Given the description of an element on the screen output the (x, y) to click on. 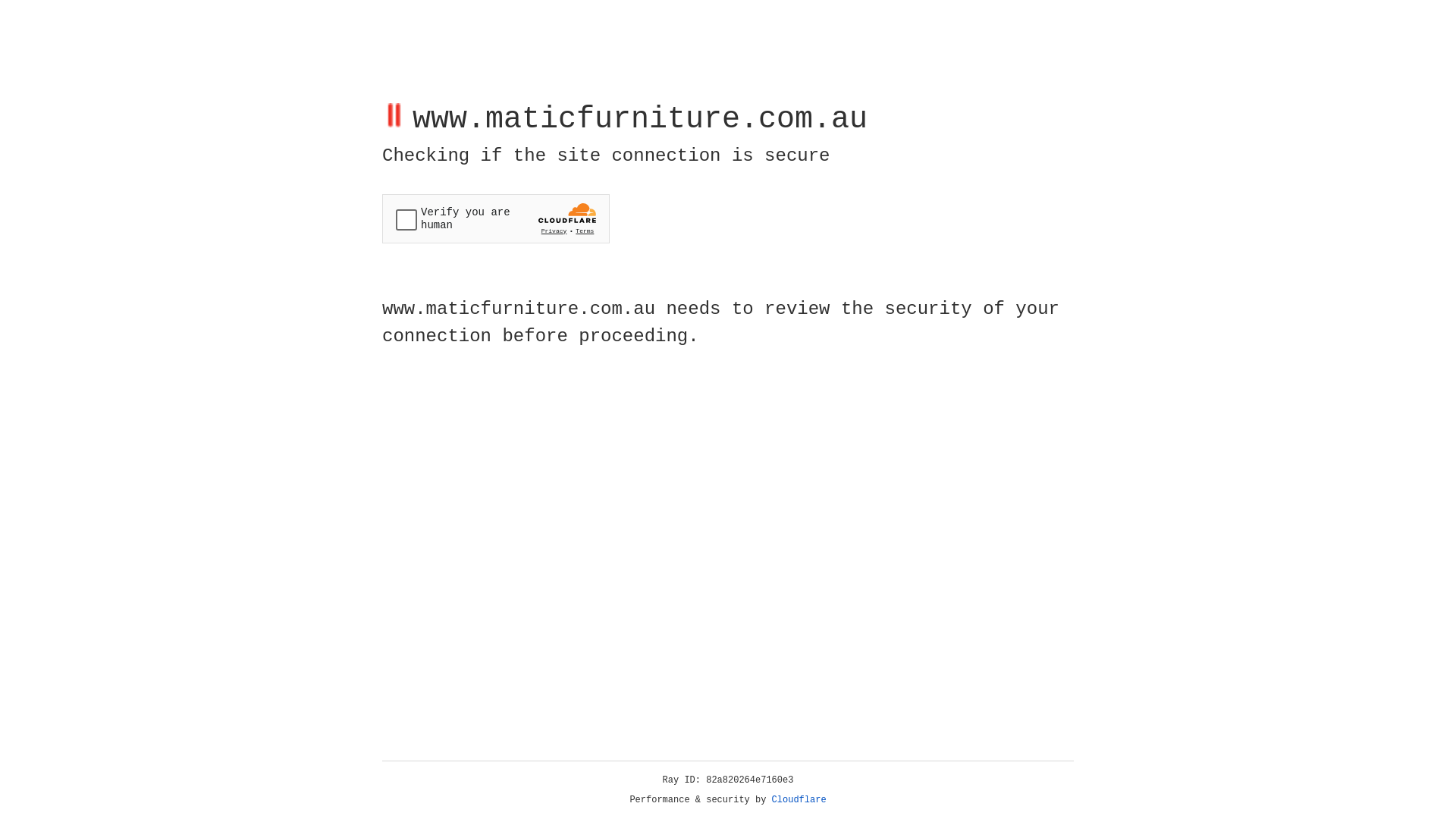
Widget containing a Cloudflare security challenge Element type: hover (495, 218)
Cloudflare Element type: text (798, 799)
